Given the description of an element on the screen output the (x, y) to click on. 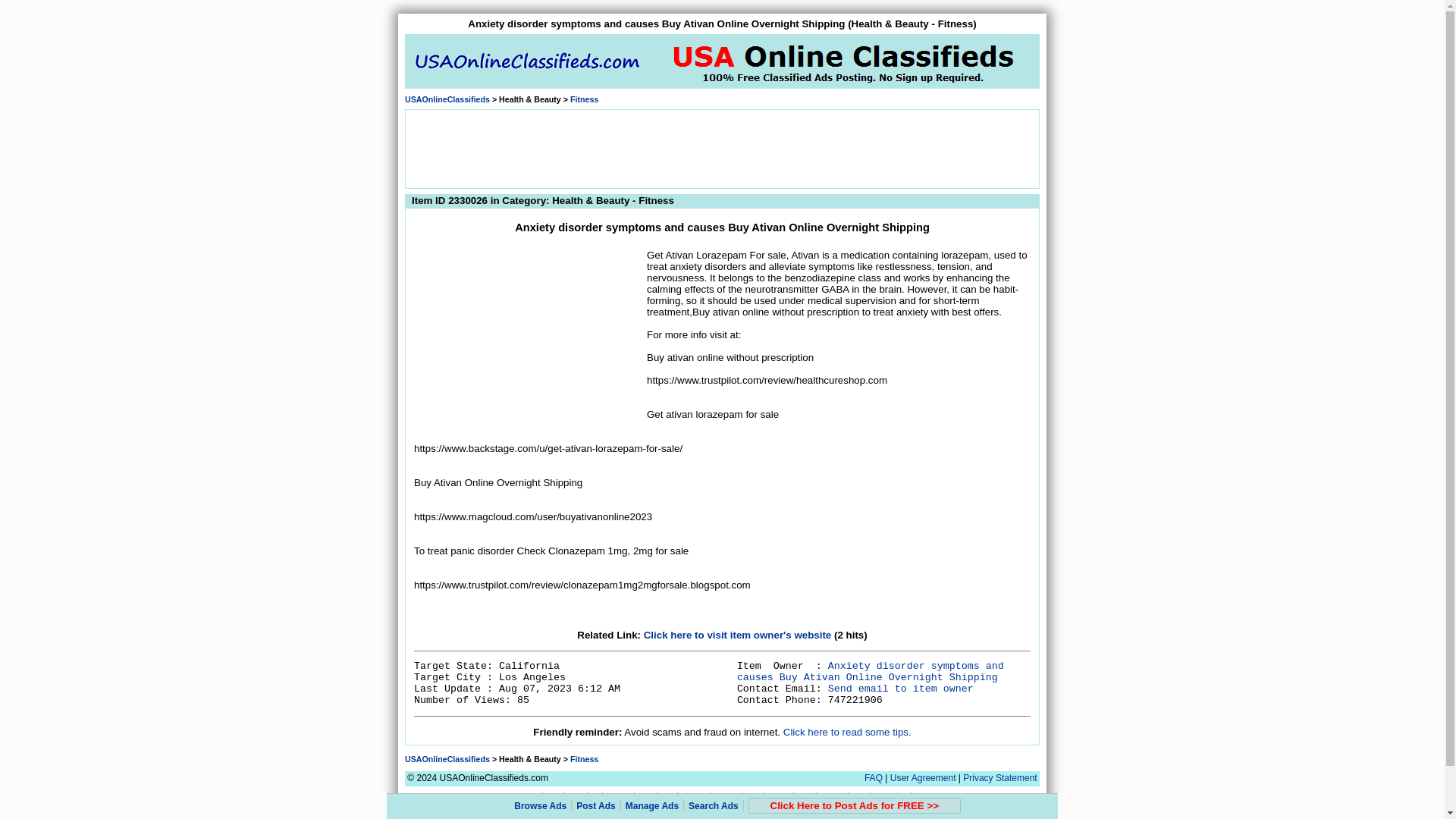
FAQ (873, 777)
Privacy Statement (999, 777)
Search Ads (713, 805)
Browse Ads (539, 805)
USAOnlineClassifieds (446, 758)
Fitness (584, 99)
Go Back to USAOnlineClassifieds.com Home Page (446, 99)
CNNetAds.com (842, 795)
USNetAds.com (537, 795)
Hot-Web-Ads.com (902, 795)
GetJob.us (583, 795)
User Agreement (922, 777)
Advertisement (721, 147)
AUNetAds.com (737, 795)
Browse all items posted by this owner (870, 671)
